Given the description of an element on the screen output the (x, y) to click on. 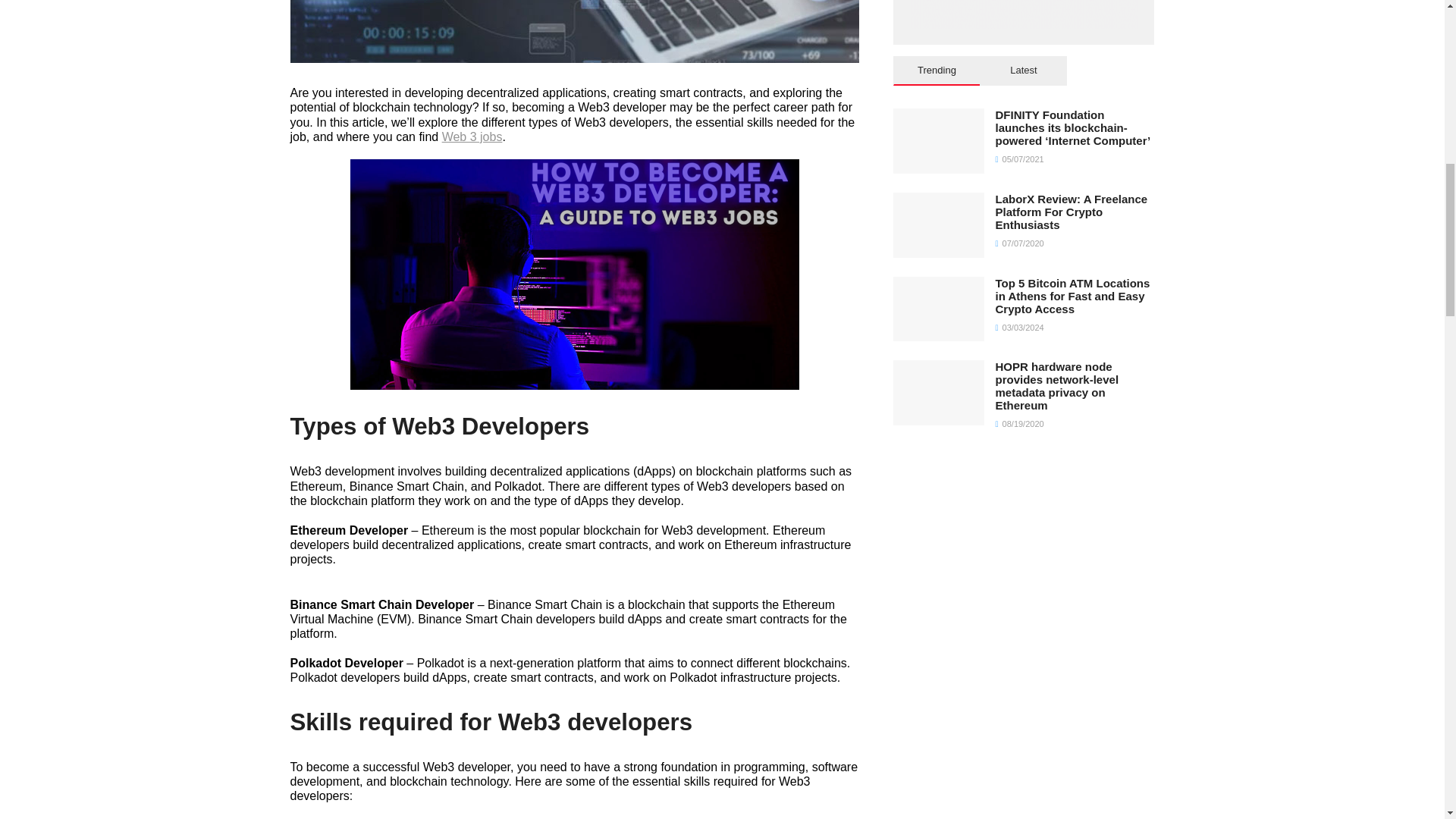
Web 3 jobs (472, 136)
3rd party ad content (1023, 14)
